Given the description of an element on the screen output the (x, y) to click on. 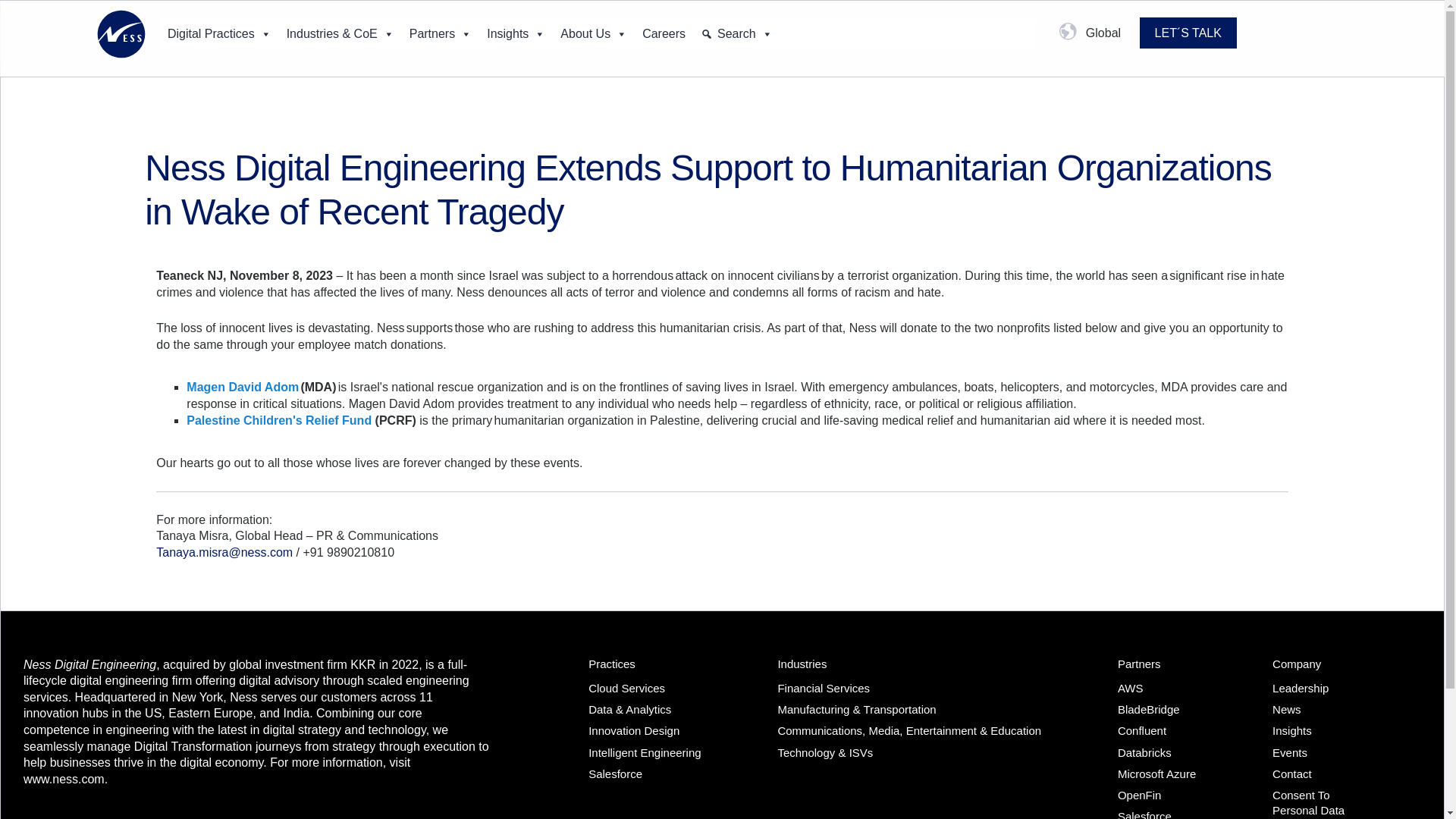
Search (736, 33)
Careers (663, 33)
Digital Practices (219, 33)
Insights (516, 33)
Partners (440, 33)
About Us (593, 33)
